Given the description of an element on the screen output the (x, y) to click on. 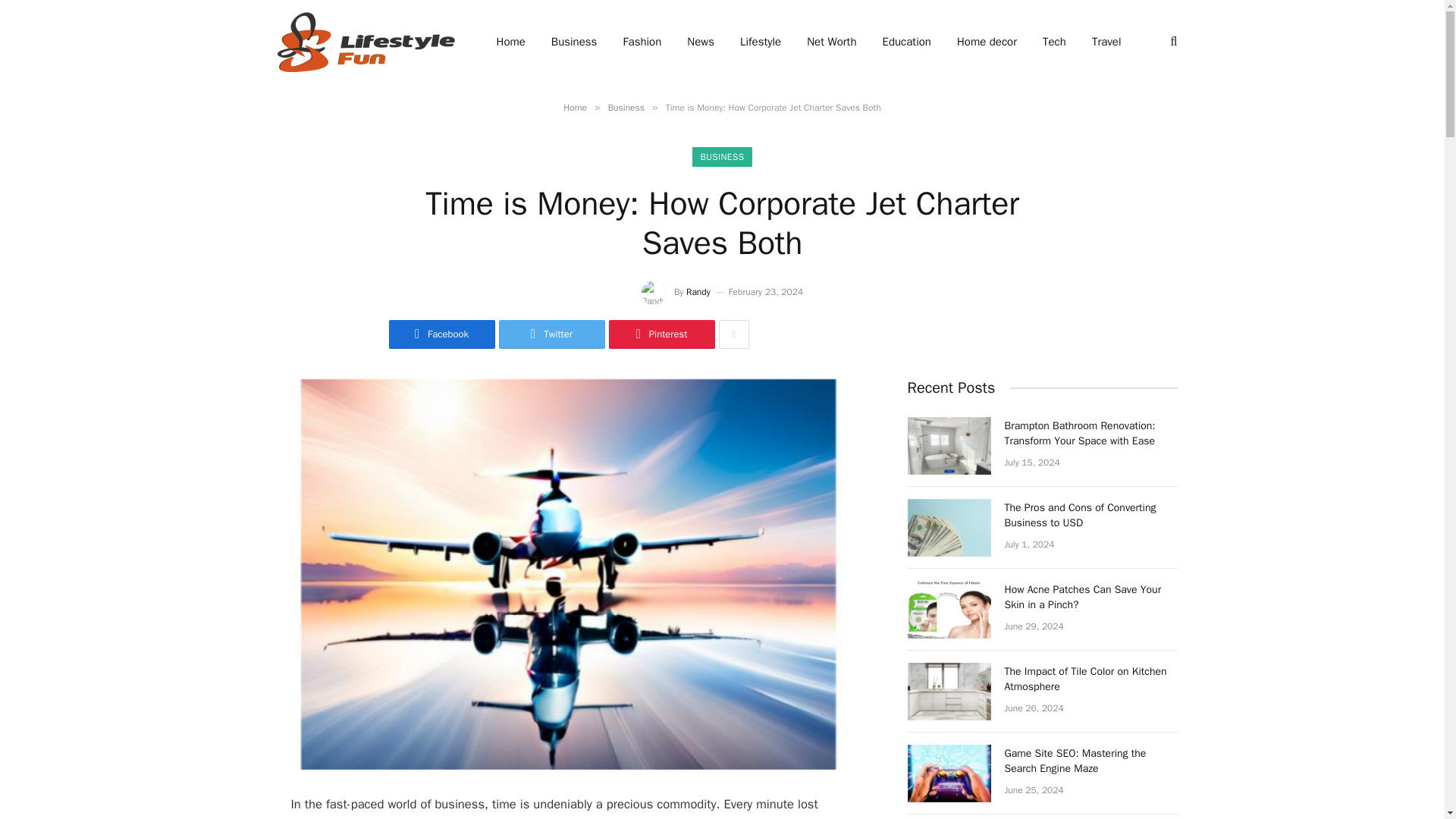
Facebook (441, 334)
Randy (697, 291)
Home (574, 107)
Show More Social Sharing (734, 334)
BUSINESS (722, 157)
Net Worth (831, 41)
Home (510, 41)
Twitter (552, 334)
Travel (1106, 41)
Share on Pinterest (661, 334)
Business (574, 41)
Pinterest (661, 334)
Business (626, 107)
Fashion (642, 41)
Lifestyle Fun (361, 41)
